Given the description of an element on the screen output the (x, y) to click on. 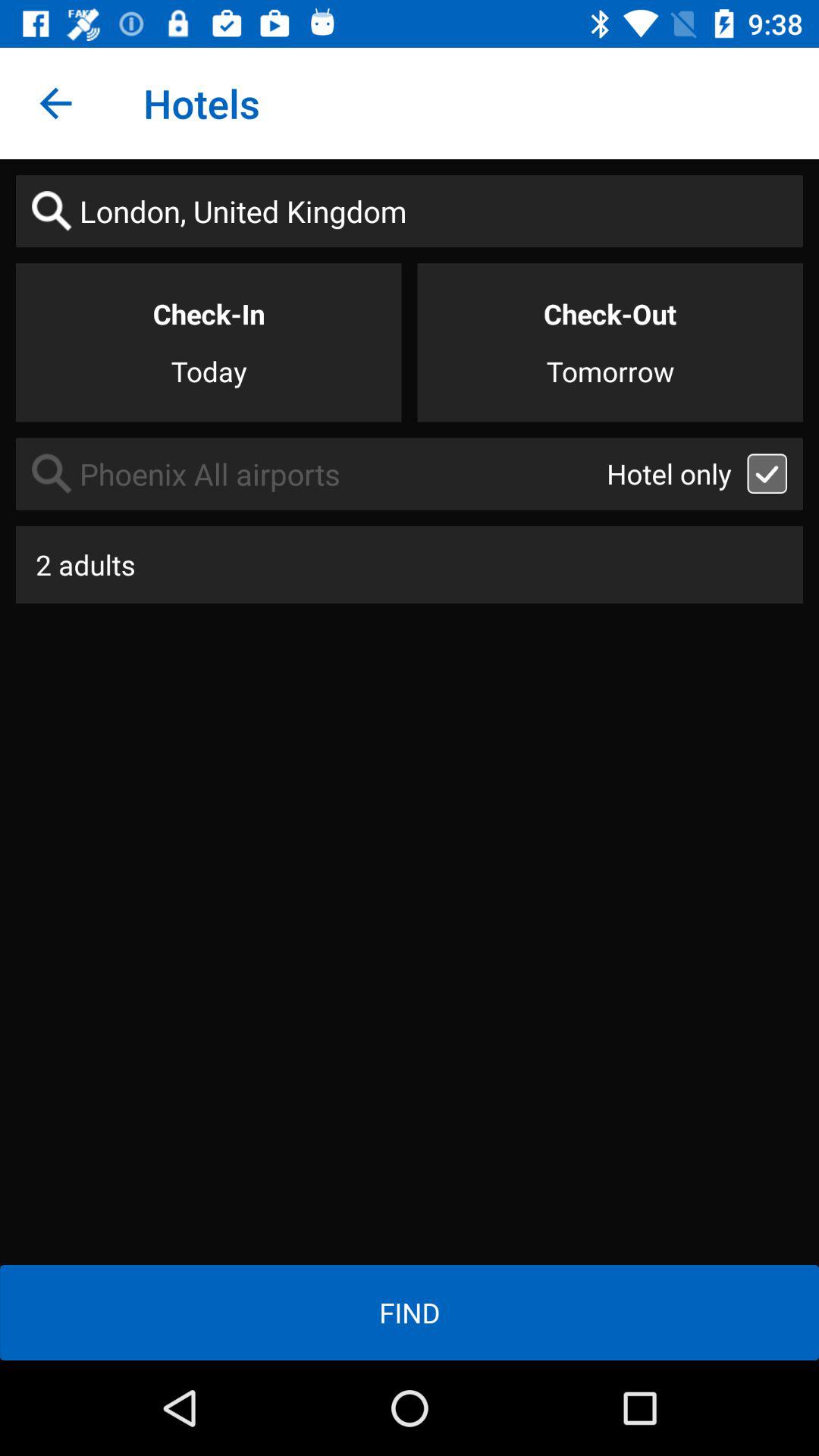
select the find (409, 1312)
